Given the description of an element on the screen output the (x, y) to click on. 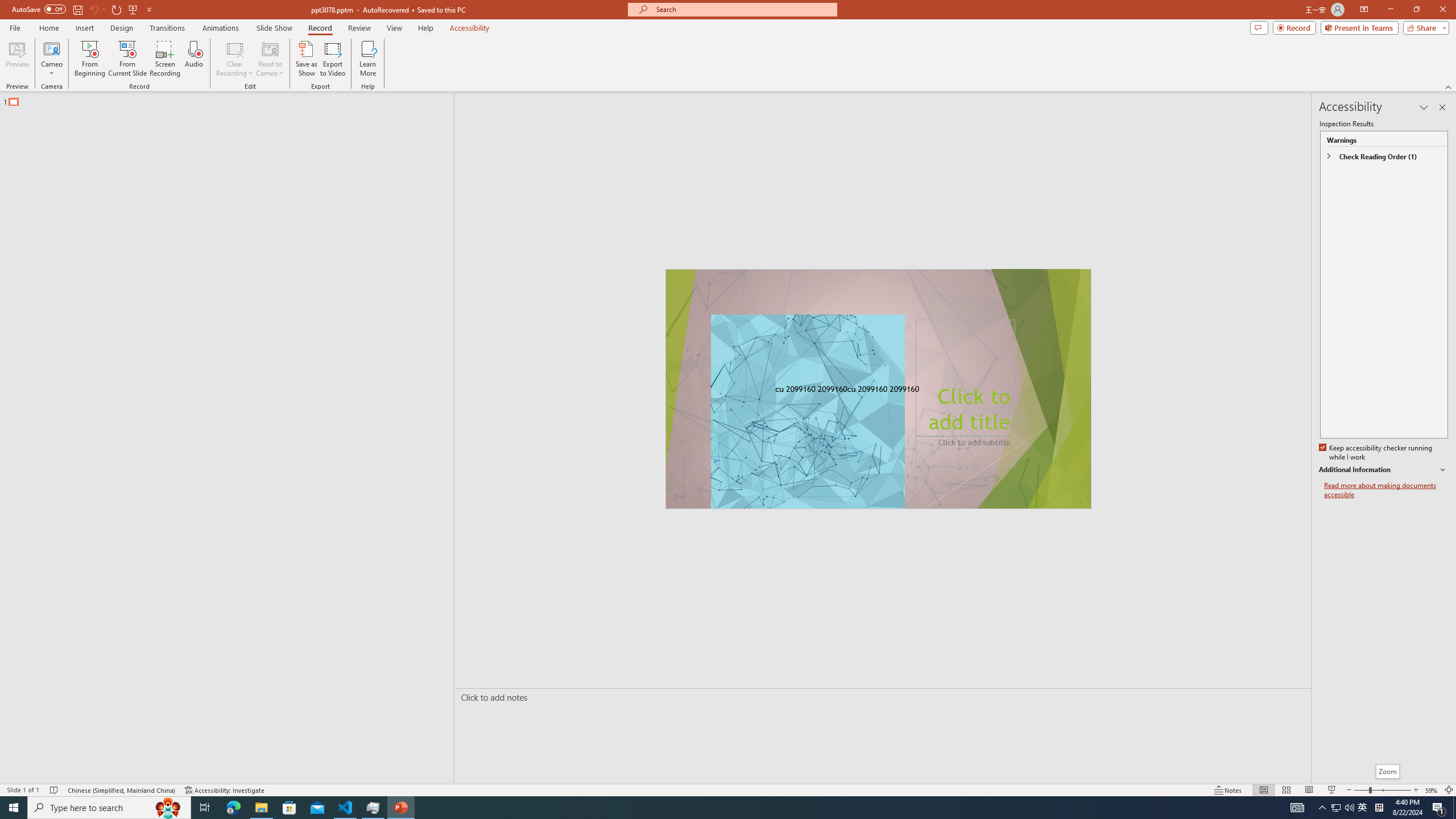
Title TextBox (964, 377)
Preview (17, 58)
From Beginning... (89, 58)
